Given the description of an element on the screen output the (x, y) to click on. 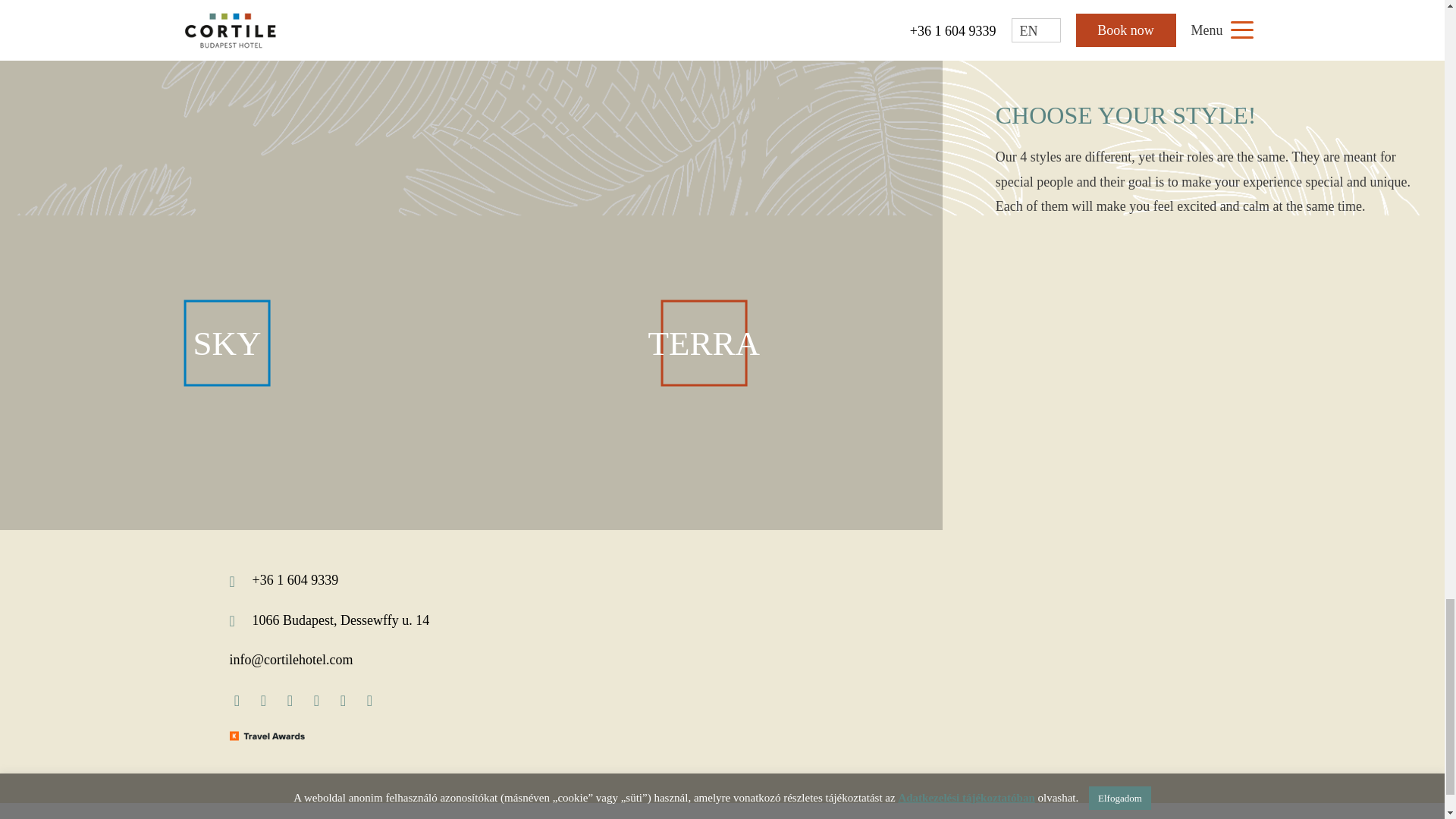
FLORA (232, 78)
MOSS (703, 78)
